Given the description of an element on the screen output the (x, y) to click on. 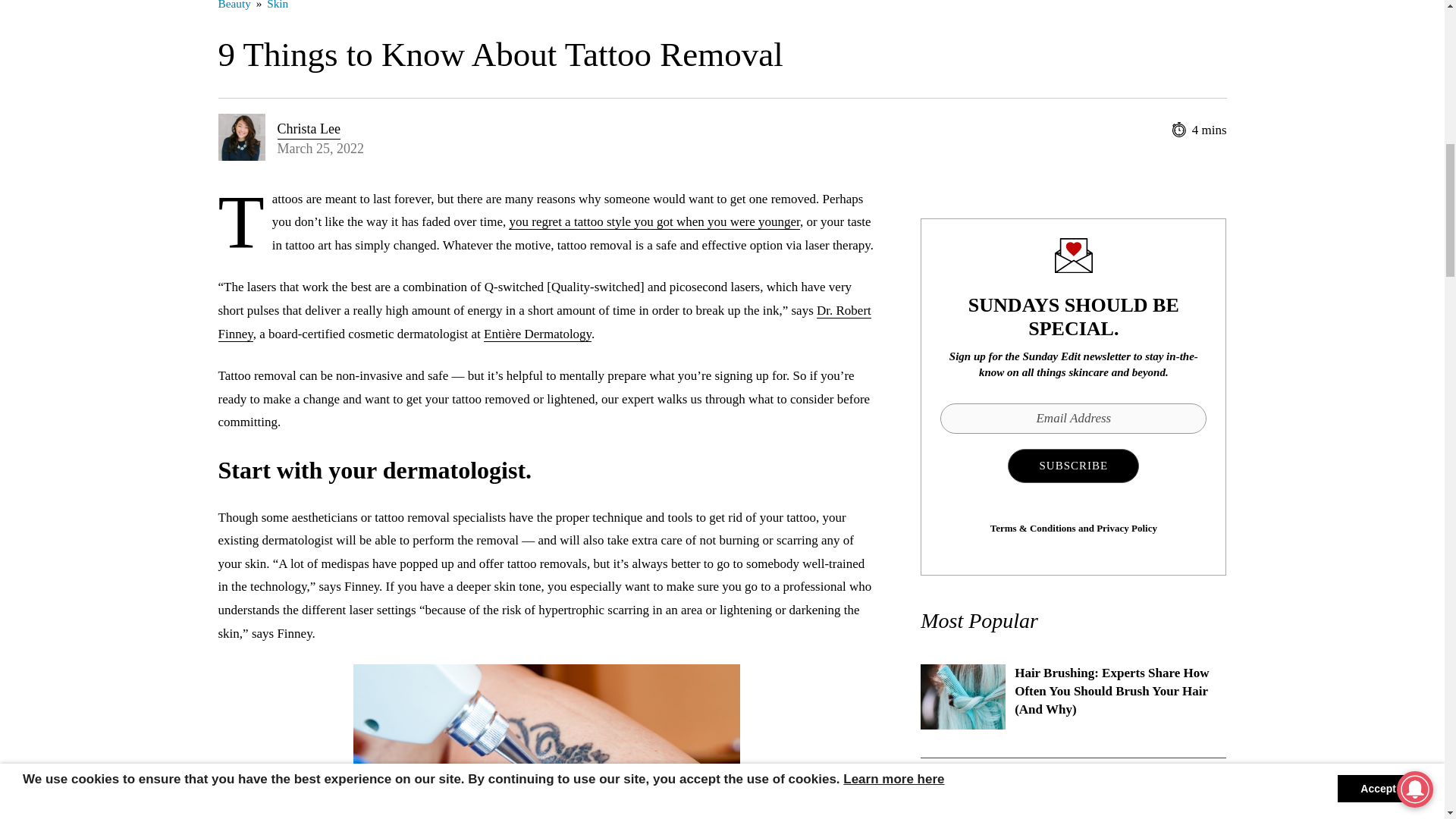
Beauty (234, 4)
Skin (277, 4)
